Given the description of an element on the screen output the (x, y) to click on. 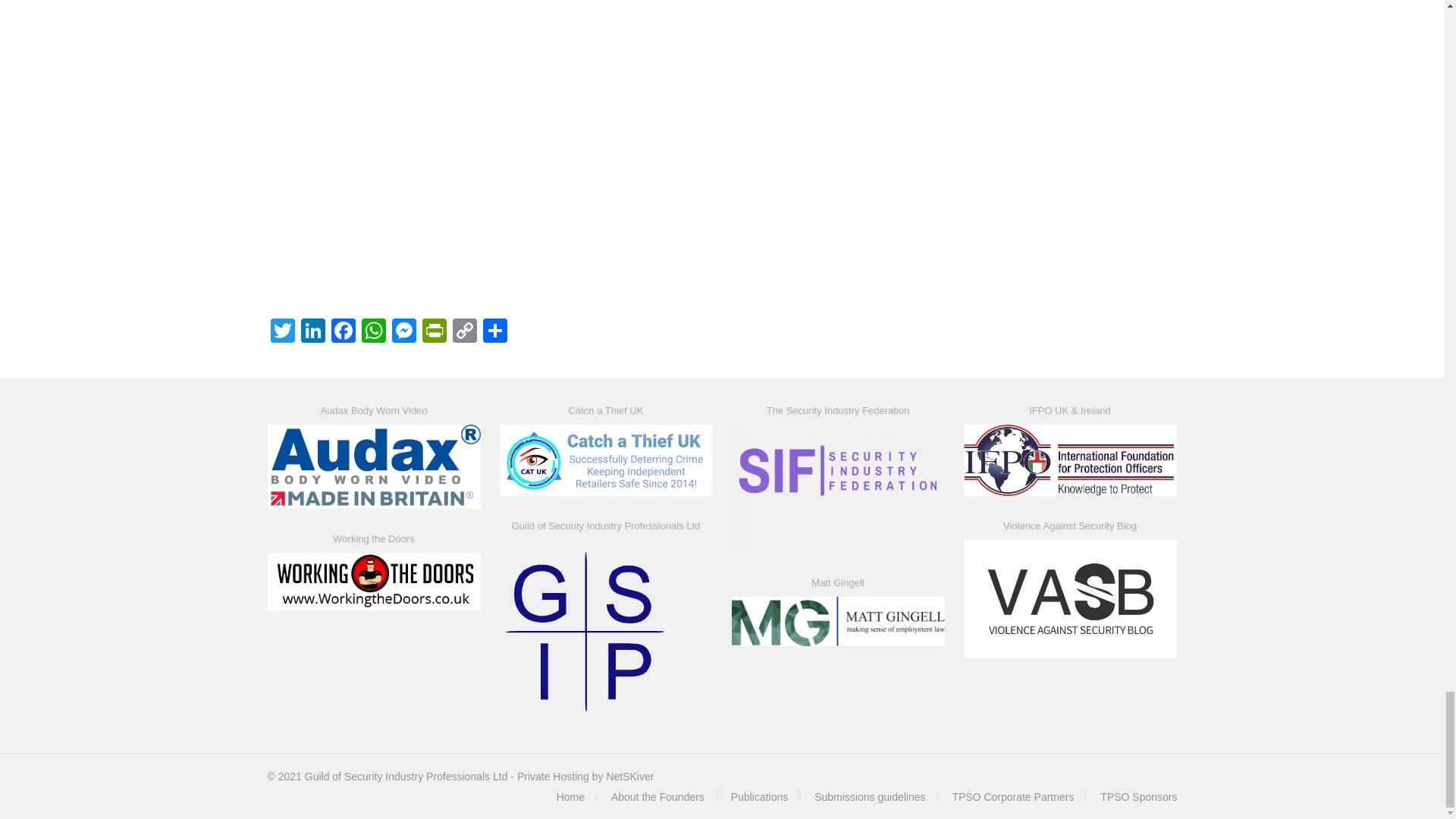
WhatsApp (373, 332)
PrintFriendly (433, 332)
Twitter (281, 332)
LinkedIn (312, 332)
Facebook (342, 332)
Copy Link (463, 332)
Messenger (403, 332)
